Given the description of an element on the screen output the (x, y) to click on. 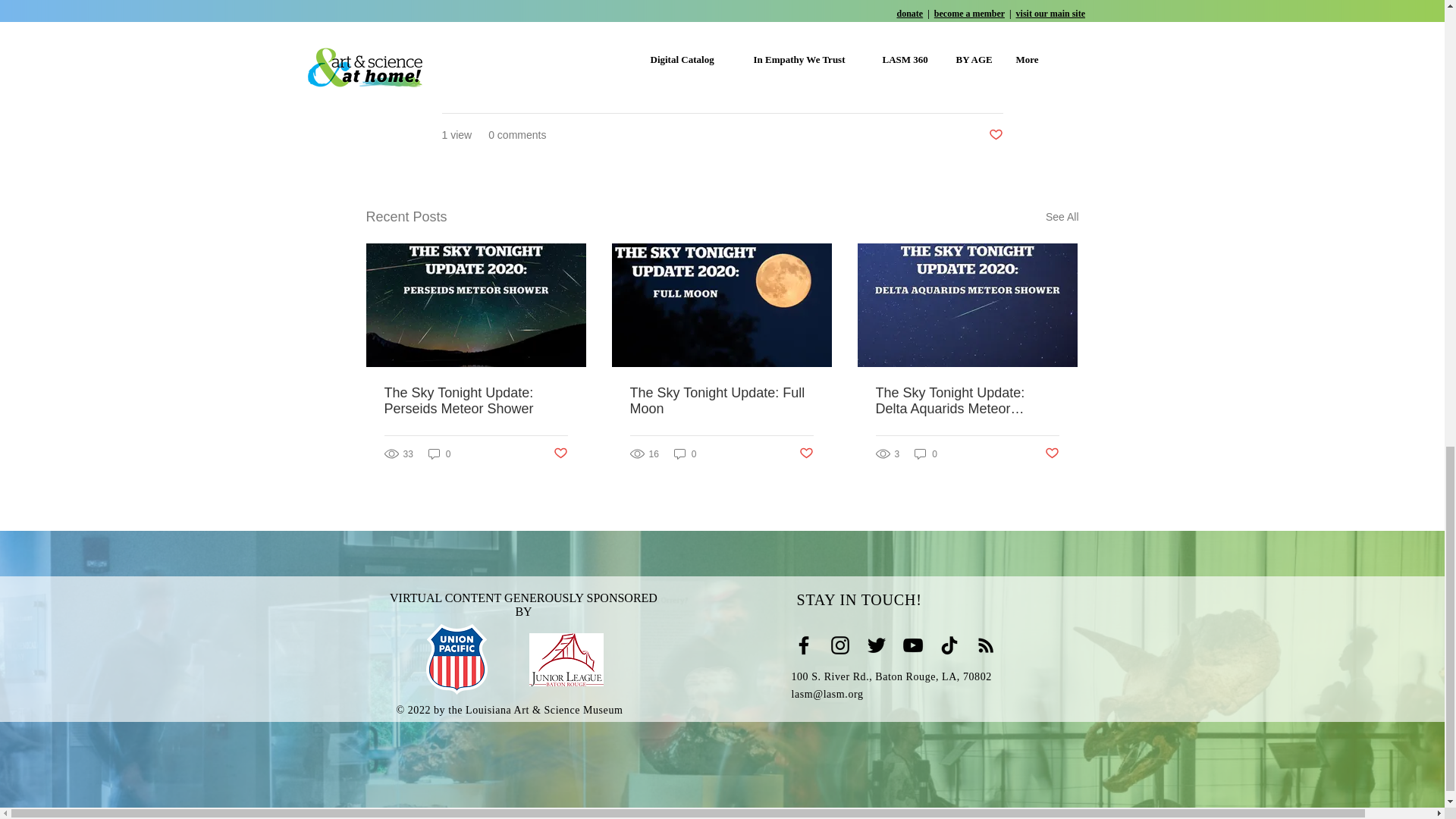
See All (1061, 217)
The Sky Tonight Update: Perseids Meteor Shower (475, 400)
0 (439, 453)
Post not marked as liked (995, 135)
Post not marked as liked (560, 453)
